Given the description of an element on the screen output the (x, y) to click on. 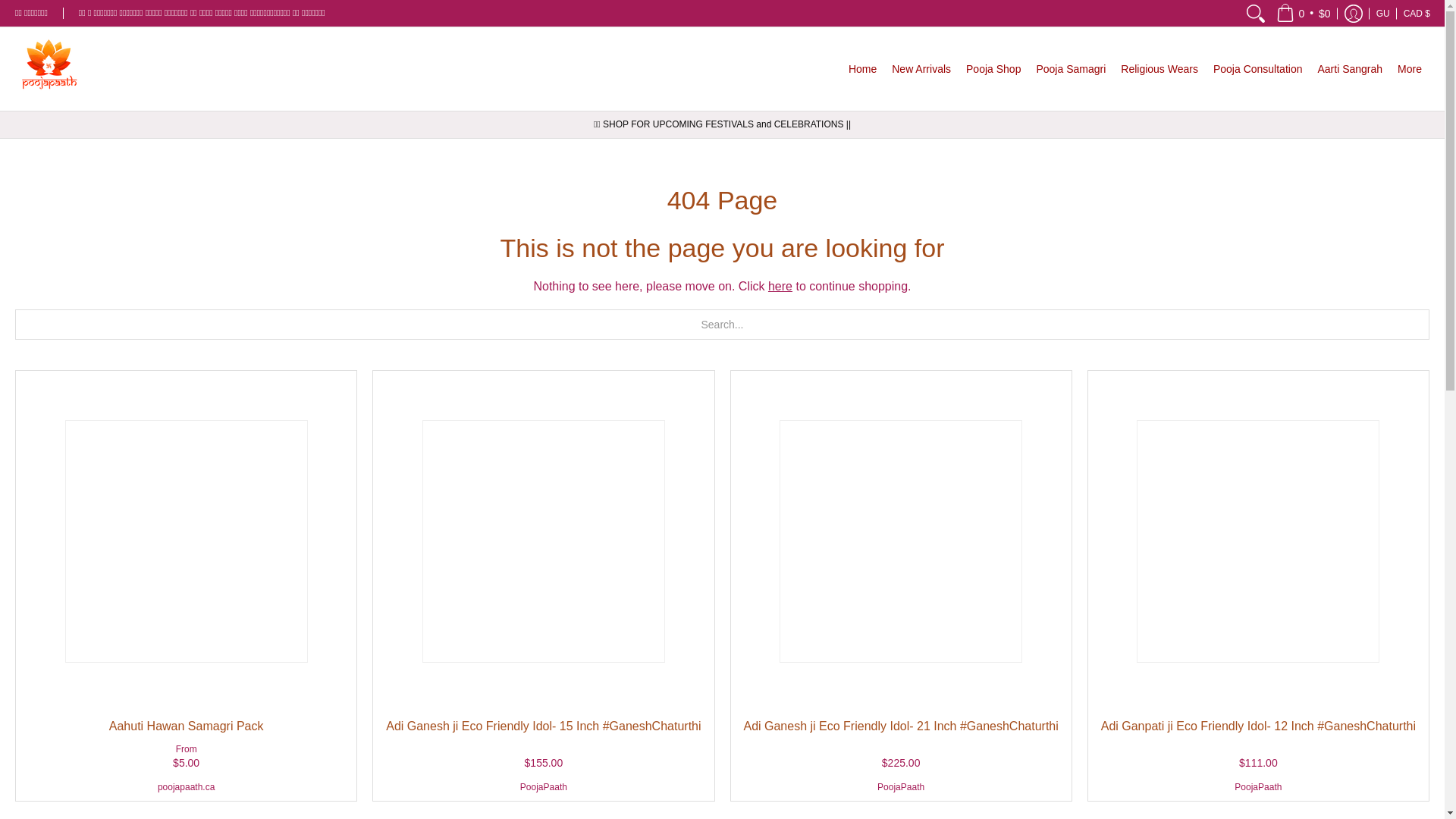
GU (1383, 13)
Cart (1303, 13)
Update store location (1383, 13)
Search (1255, 13)
Log in (1354, 13)
Update store currency (1416, 13)
